Given the description of an element on the screen output the (x, y) to click on. 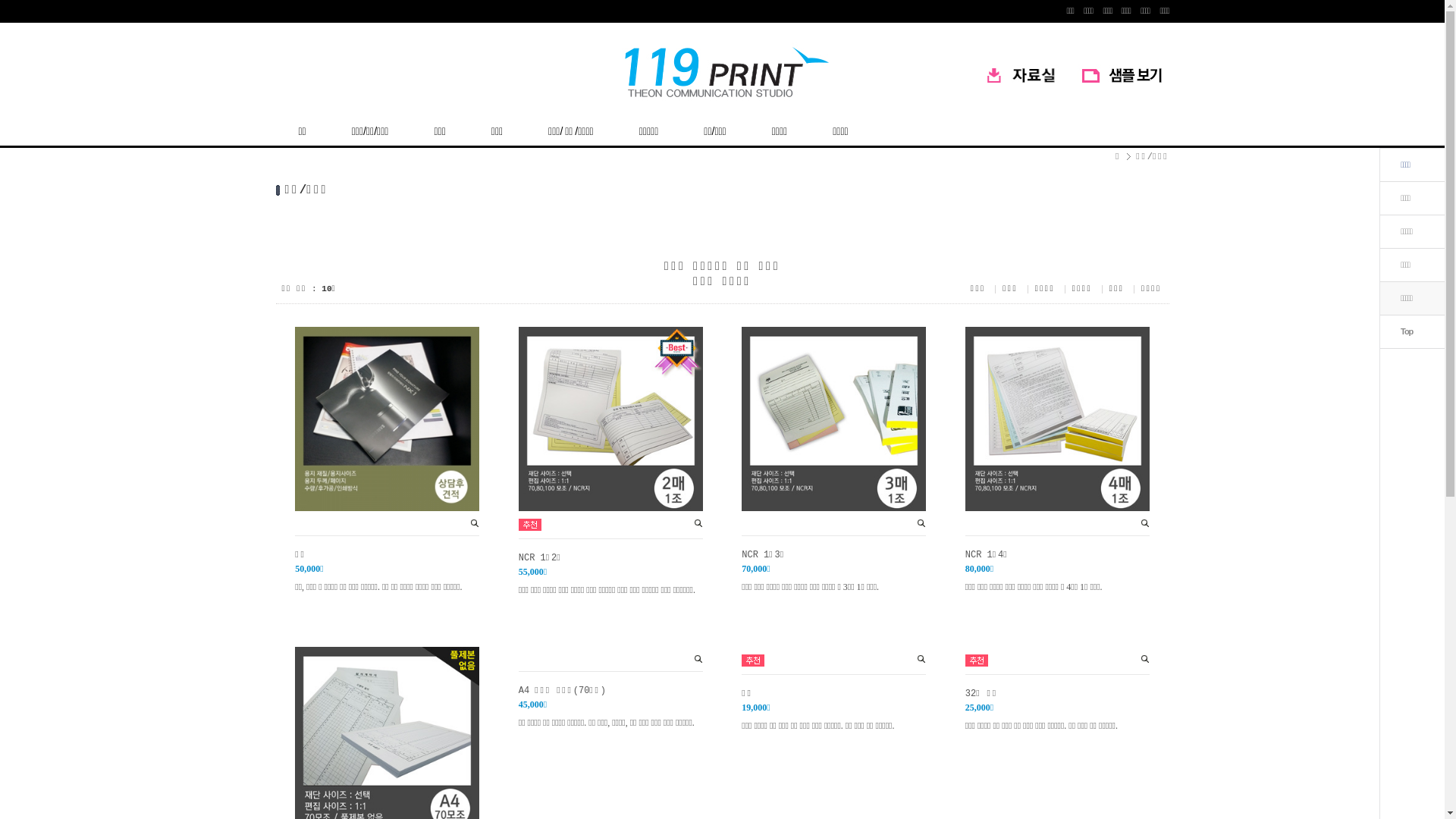
Top Element type: text (1406, 330)
